Given the description of an element on the screen output the (x, y) to click on. 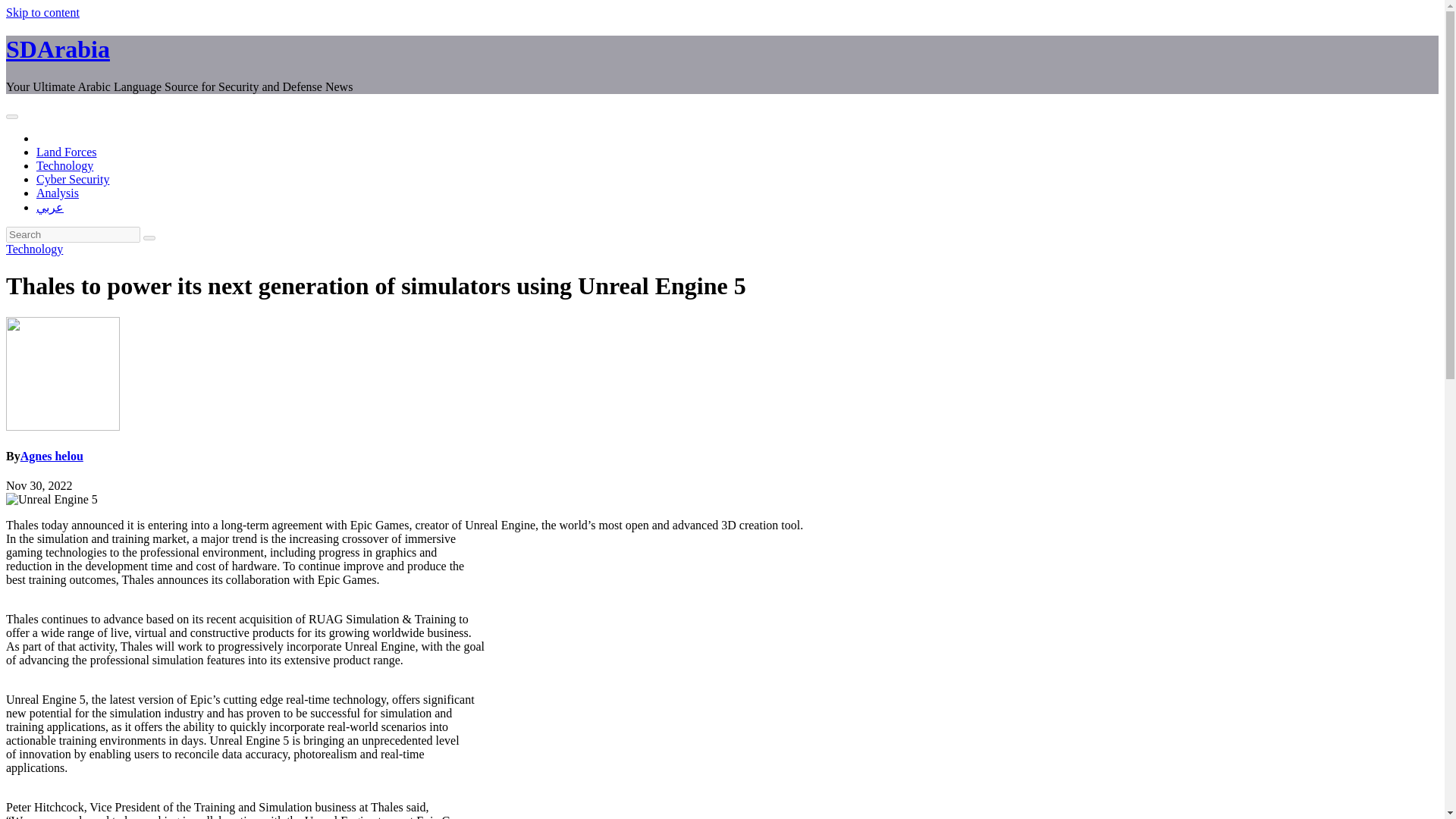
Cyber Security (72, 178)
Land Forces (66, 151)
Technology (64, 164)
Land Forces (66, 151)
Agnes helou (51, 455)
SDArabia (57, 49)
Analysis (57, 192)
Cyber Security (72, 178)
Technology (64, 164)
Skip to content (42, 11)
Analysis (57, 192)
Technology (33, 248)
